Given the description of an element on the screen output the (x, y) to click on. 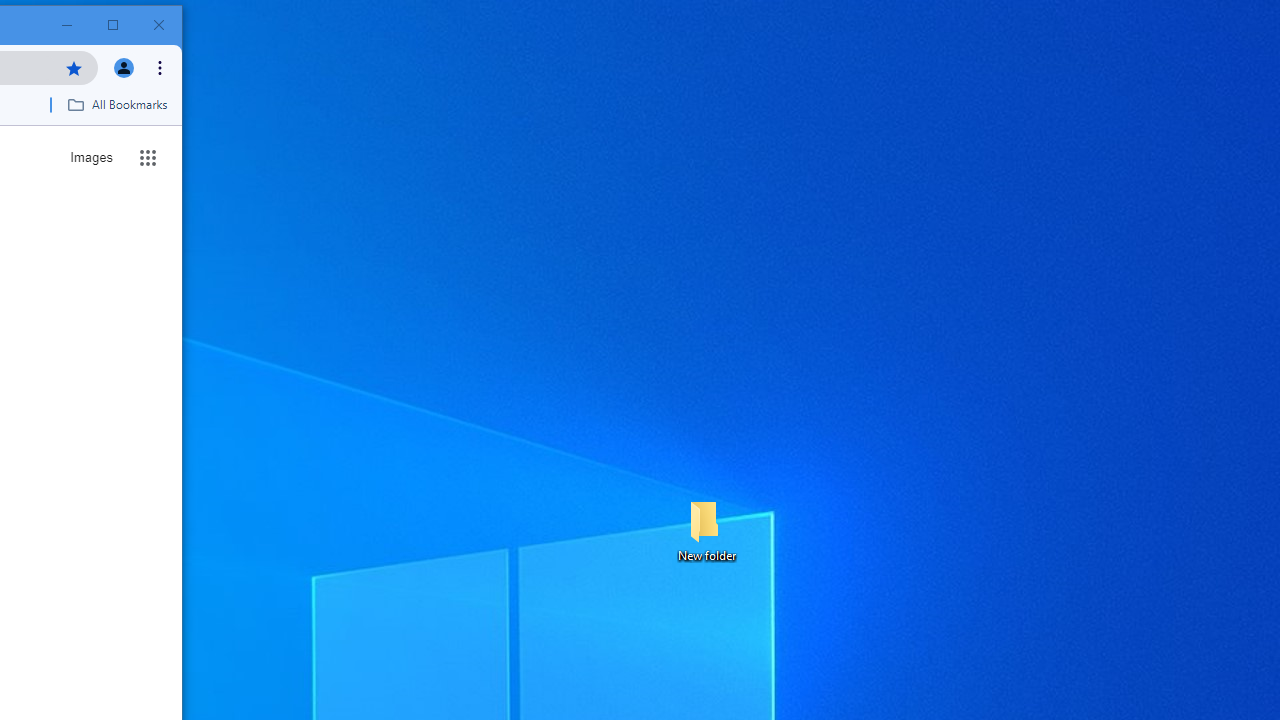
New folder (706, 530)
